Given the description of an element on the screen output the (x, y) to click on. 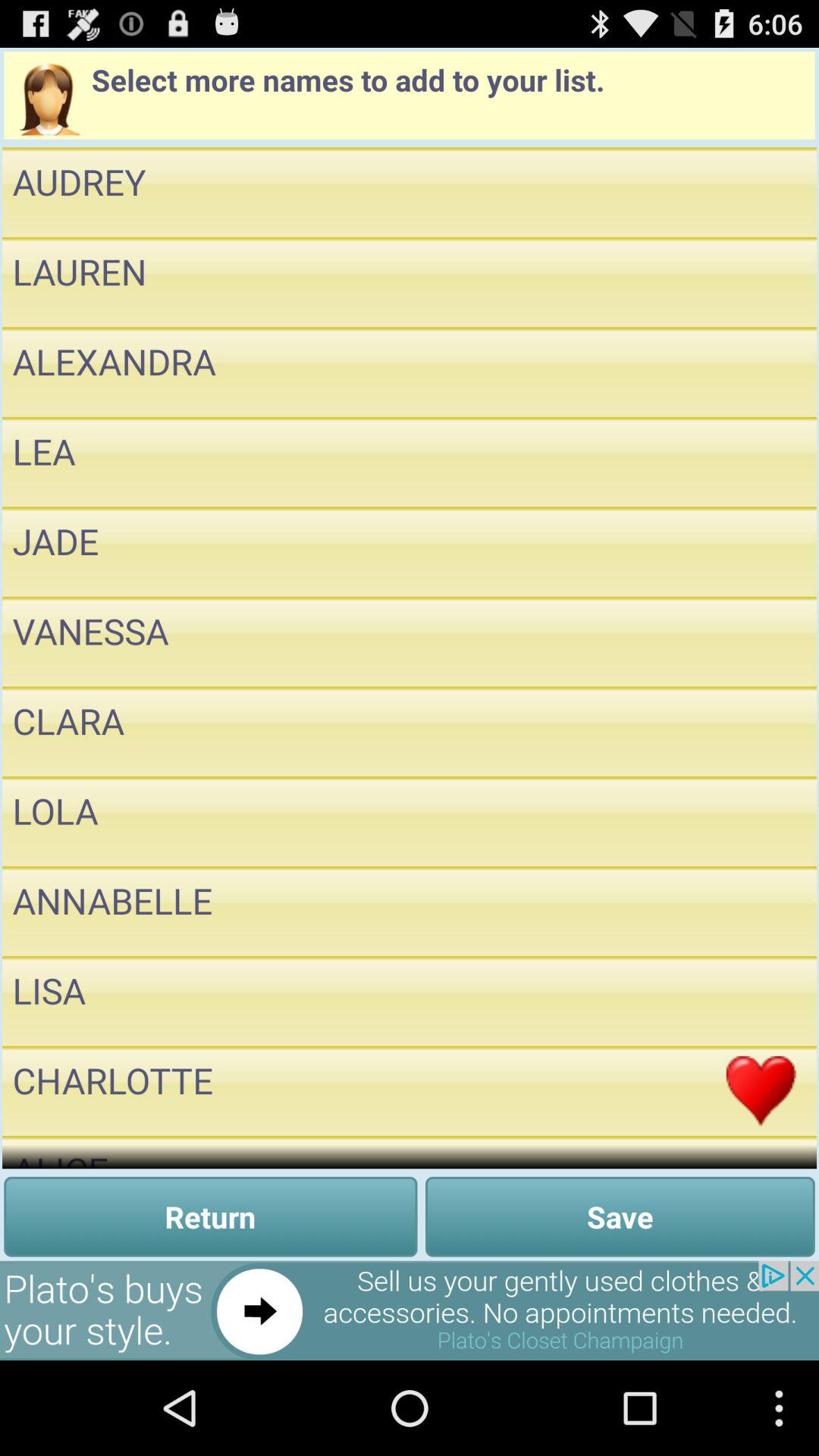
select name (761, 1001)
